Given the description of an element on the screen output the (x, y) to click on. 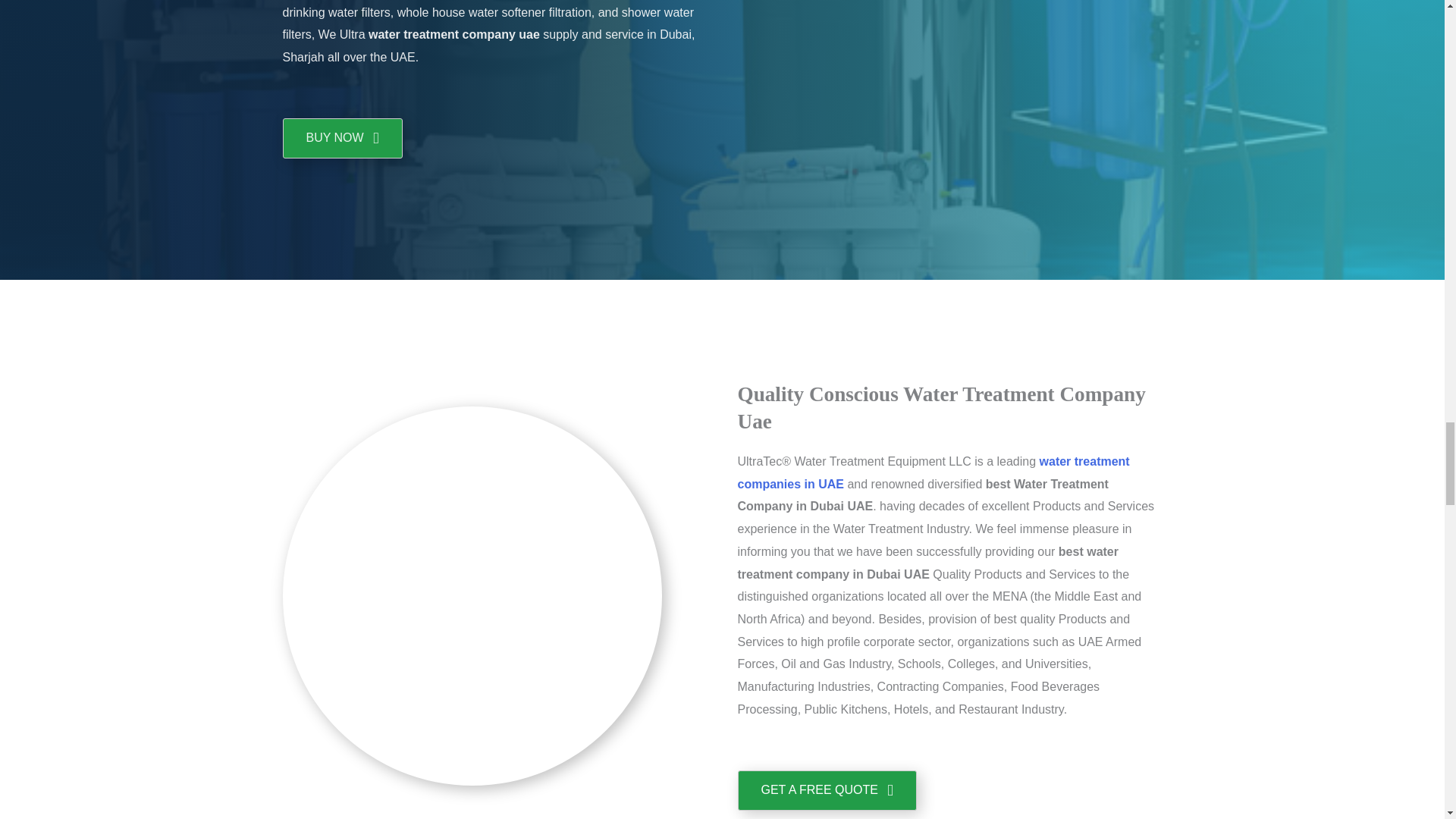
water-treatment-uae-home (948, 88)
